Given the description of an element on the screen output the (x, y) to click on. 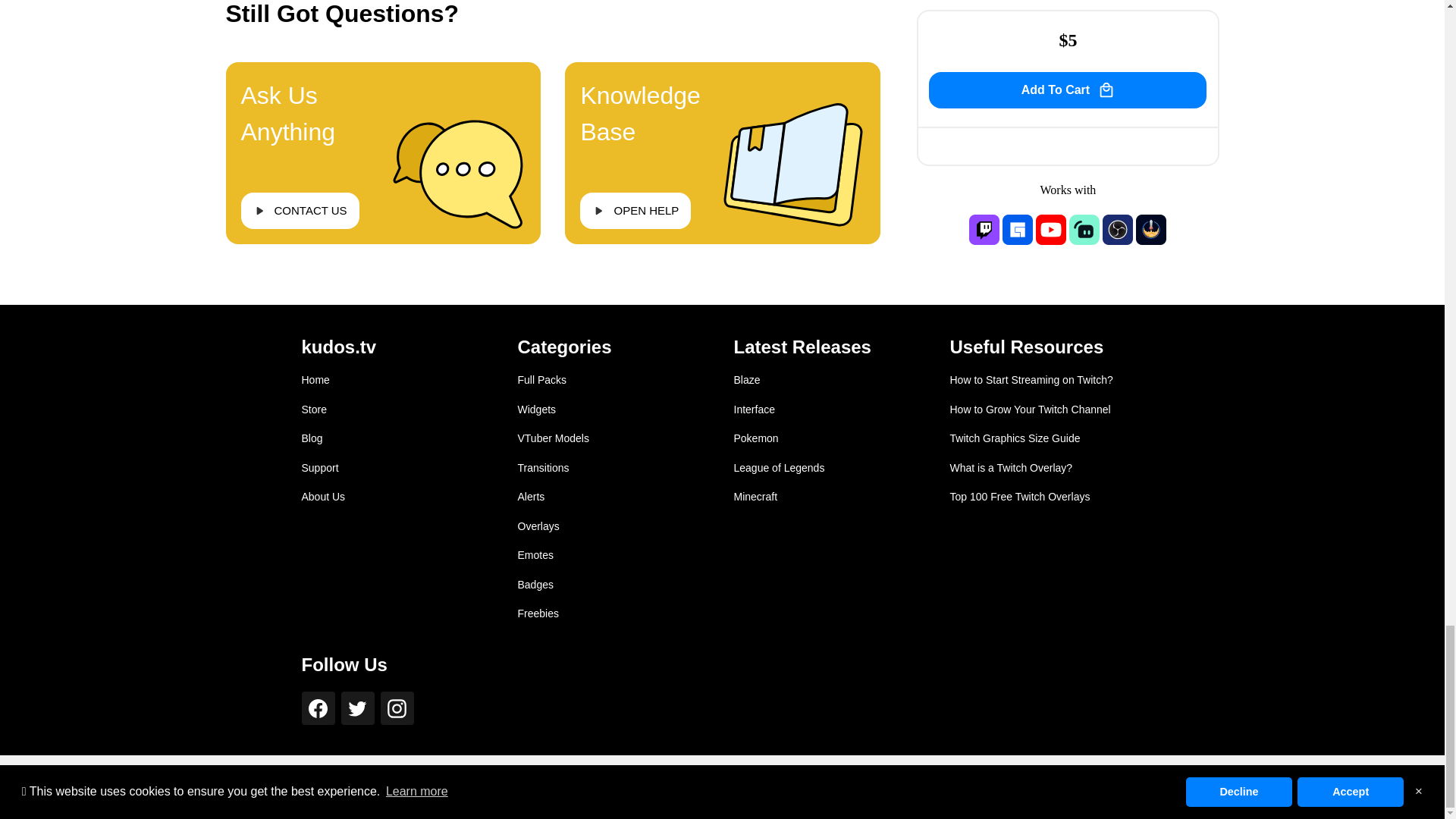
Google Pay (347, 787)
Apple Pay (315, 787)
PayPal (381, 787)
